Given the description of an element on the screen output the (x, y) to click on. 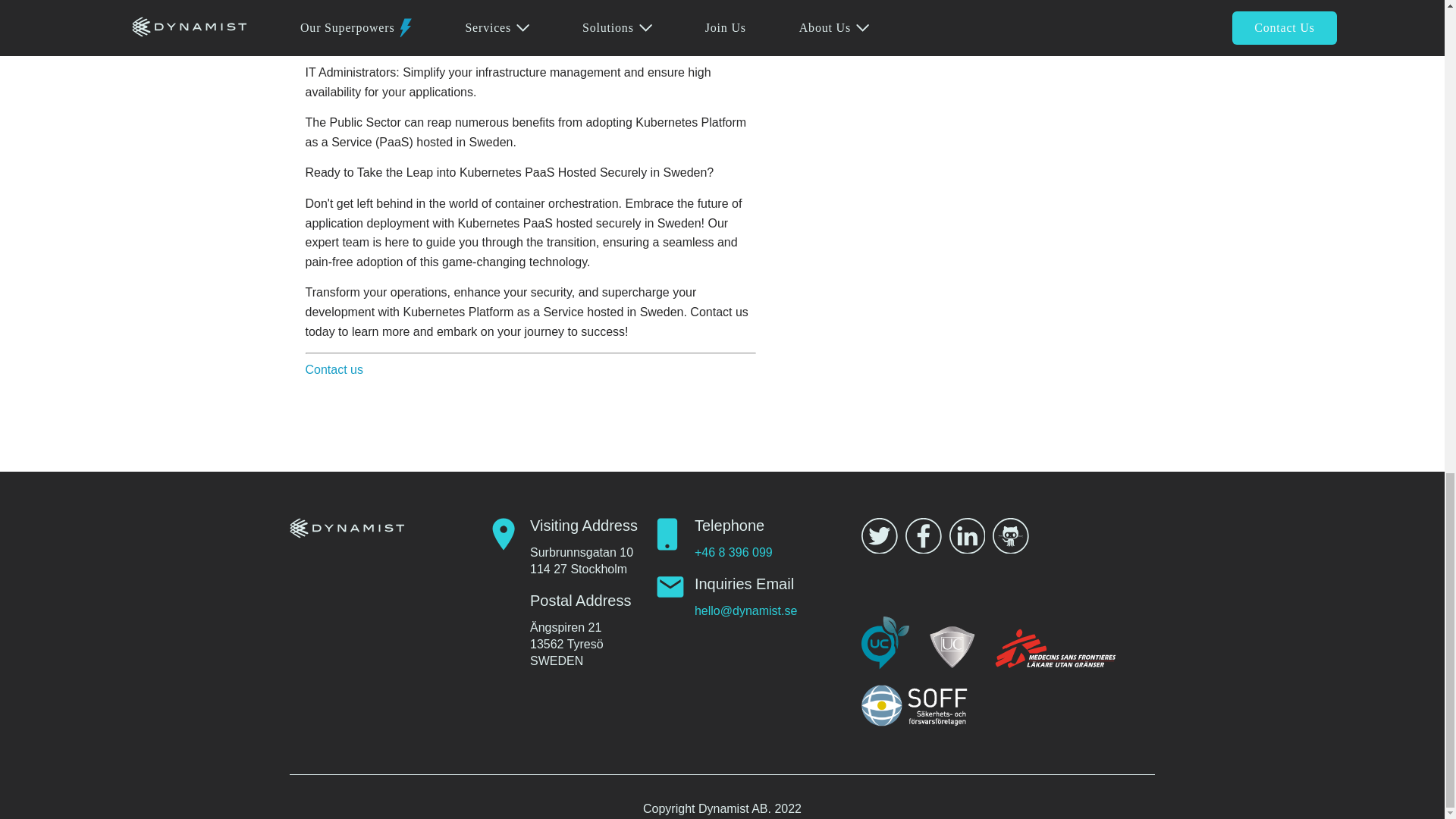
Contact us (333, 369)
